Given the description of an element on the screen output the (x, y) to click on. 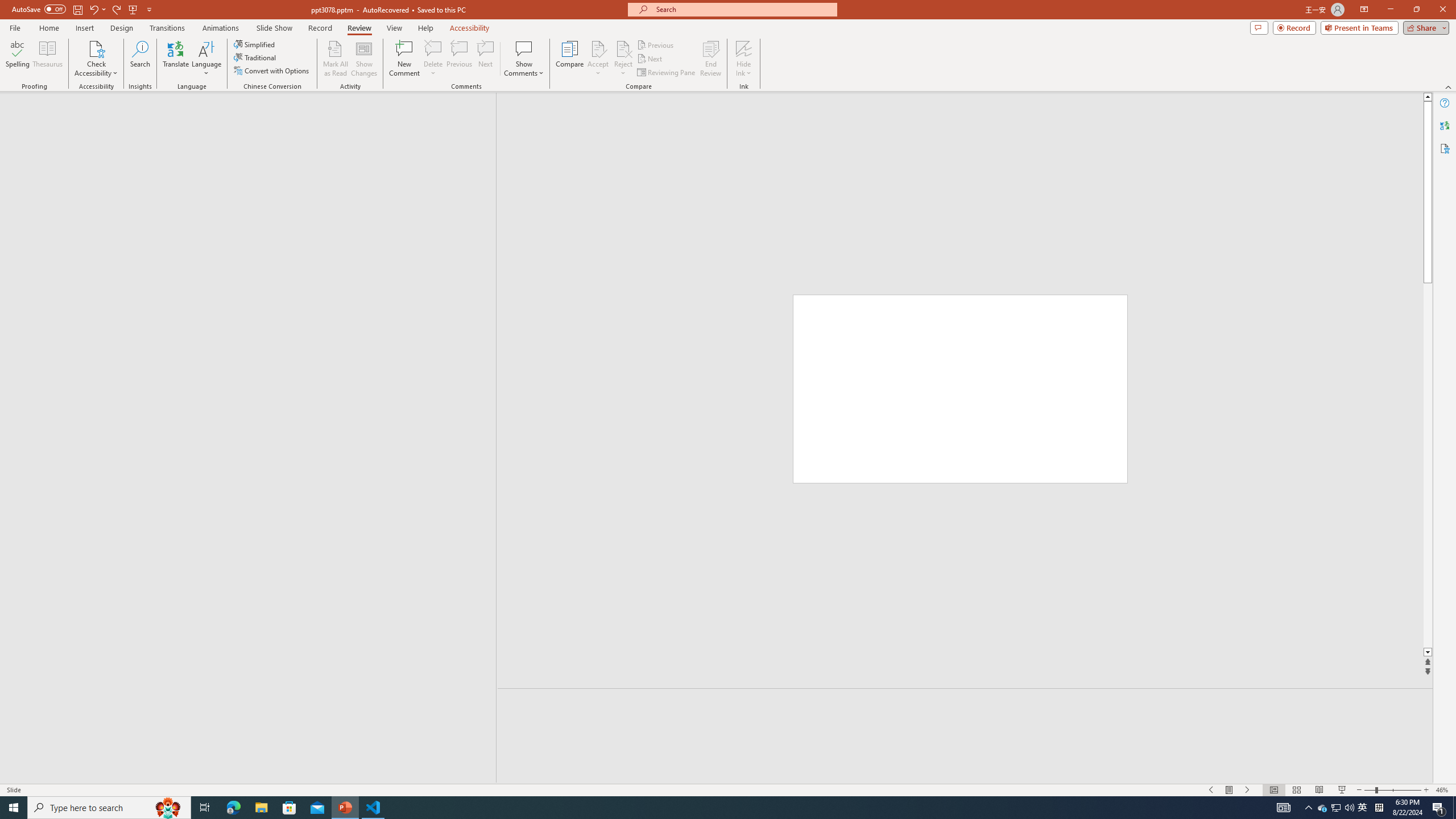
Reject (622, 58)
Show Changes (363, 58)
End Review (710, 58)
Convert with Options... (272, 69)
Slide Show Next On (1247, 790)
